Given the description of an element on the screen output the (x, y) to click on. 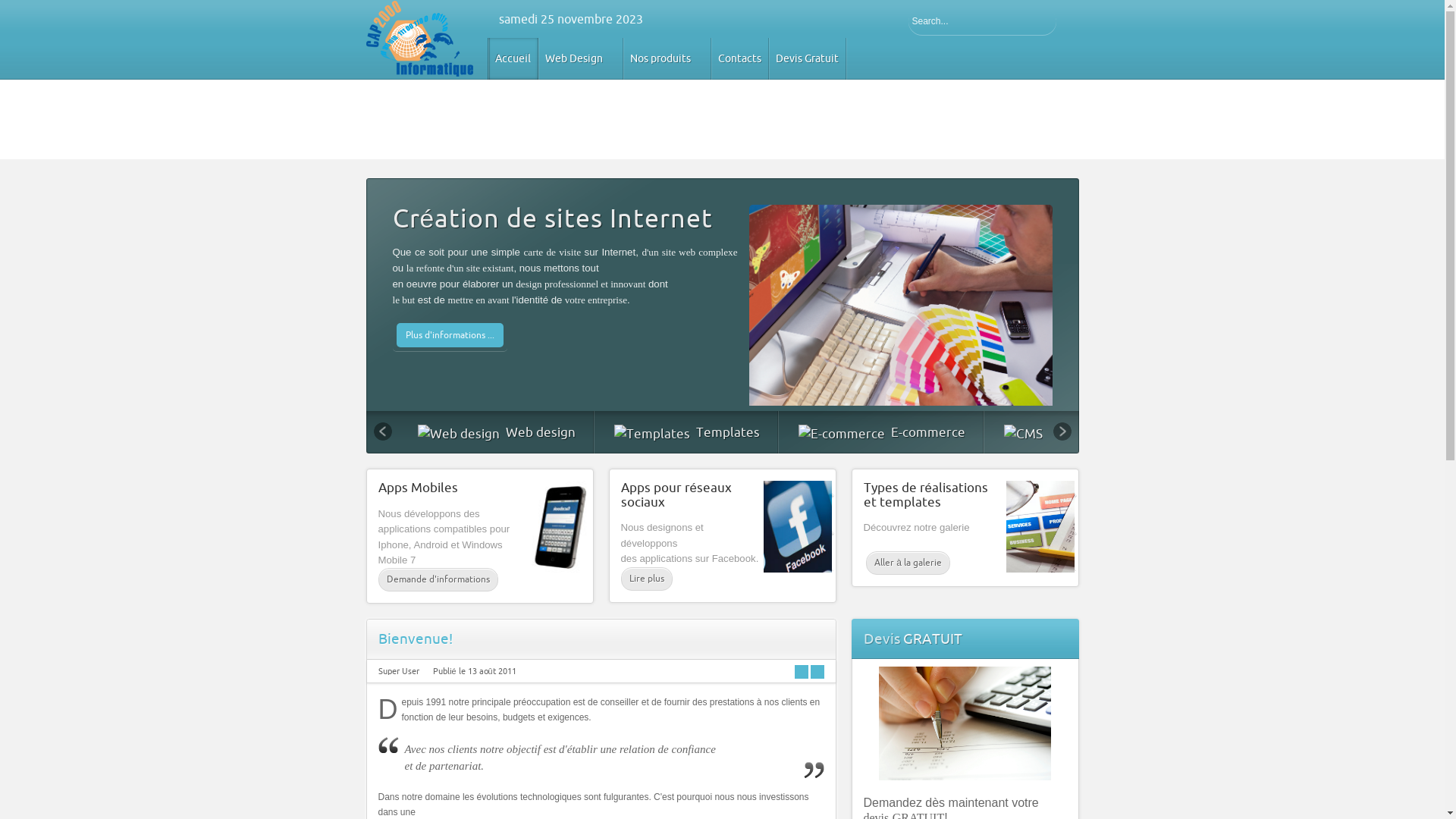
Nos produits Element type: text (665, 58)
E-mail Element type: hover (801, 671)
Devis Gratuit Element type: text (806, 58)
Web Design Element type: text (579, 58)
Demande d'informations Element type: text (437, 579)
Bienvenue! Element type: text (414, 638)
Plus d'informations ... Element type: text (449, 335)
Lire plus Element type: text (645, 578)
Contacts Element type: text (738, 58)
Imprimer Element type: hover (816, 671)
Accueil Element type: text (511, 58)
